Given the description of an element on the screen output the (x, y) to click on. 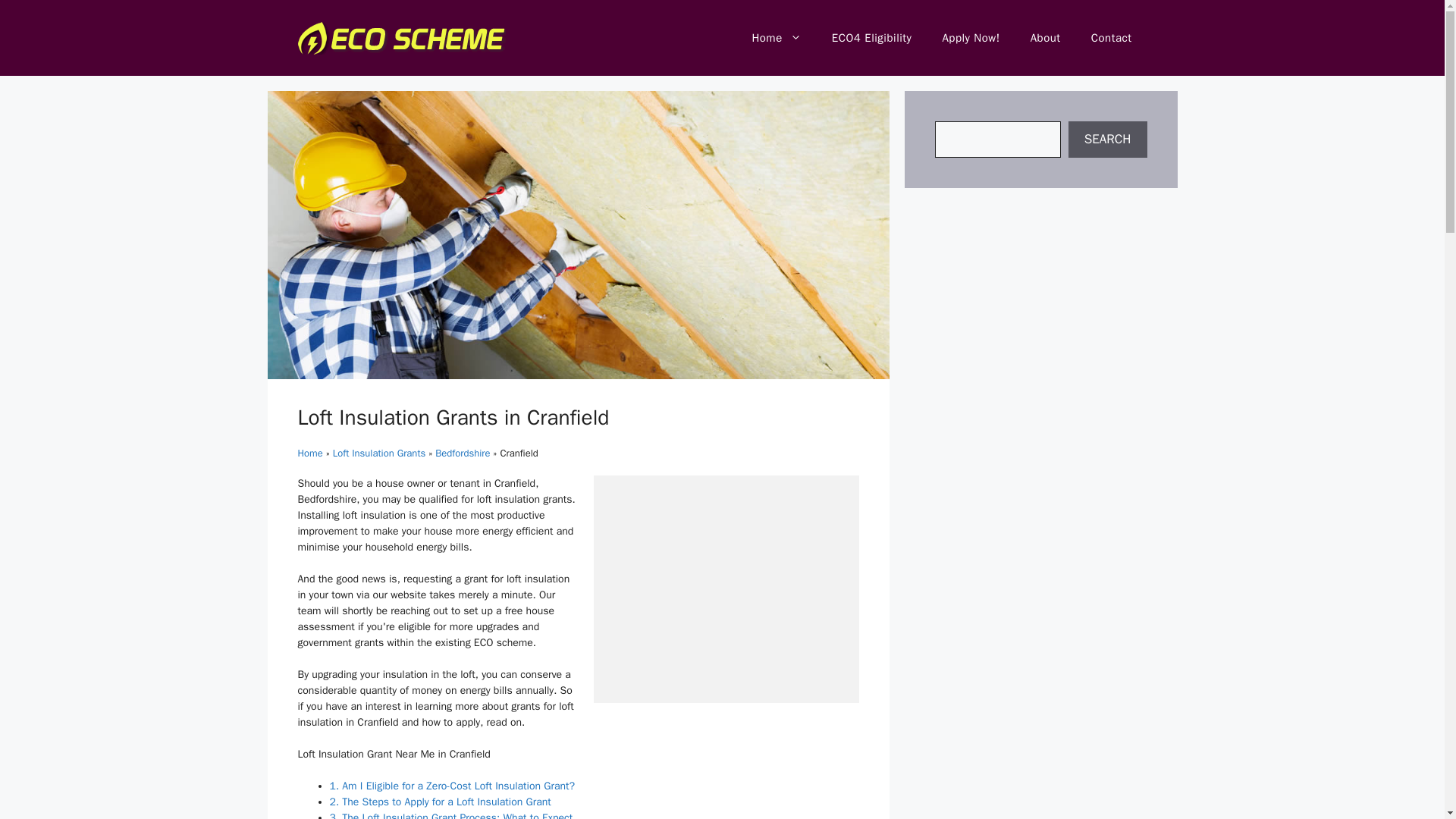
Loft Insulation Grants (379, 452)
1. Am I Eligible for a Zero-Cost Loft Insulation Grant? (452, 785)
Home (775, 37)
SEARCH (1107, 139)
Bedfordshire (462, 452)
3. The Loft Insulation Grant Process: What to Expect (450, 815)
Apply Now! (970, 37)
About (1044, 37)
Home (309, 452)
Contact (1111, 37)
